Given the description of an element on the screen output the (x, y) to click on. 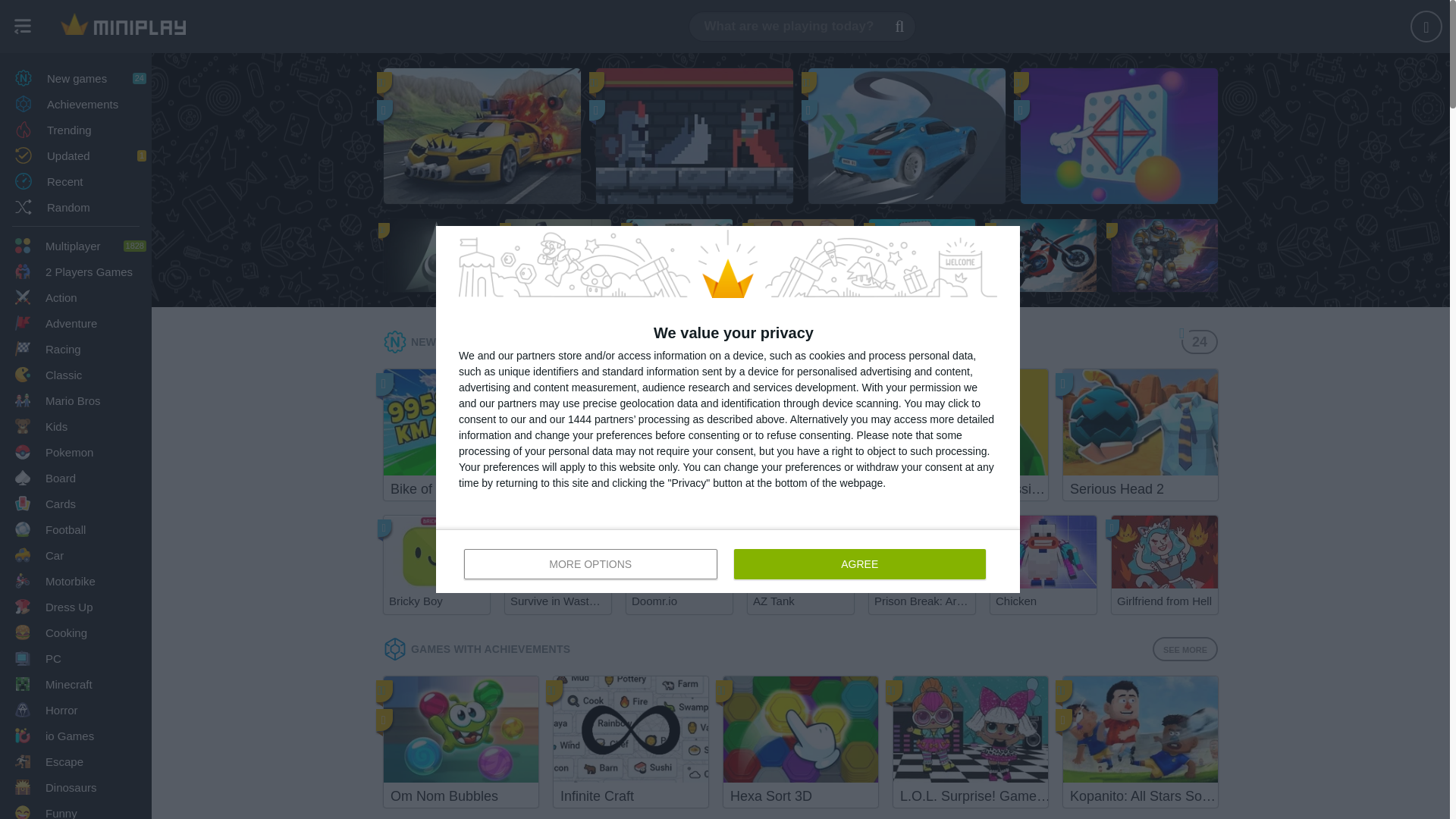
MORE OPTIONS (590, 563)
Adventure Games (75, 245)
Dress Up (75, 322)
Funny (75, 606)
Kids (75, 809)
2 Players Games (75, 425)
Games (75, 271)
Recent (122, 26)
Minecraft (75, 181)
Random (75, 683)
Achievements (75, 207)
New games (75, 103)
Action (75, 77)
Cards (75, 297)
